Given the description of an element on the screen output the (x, y) to click on. 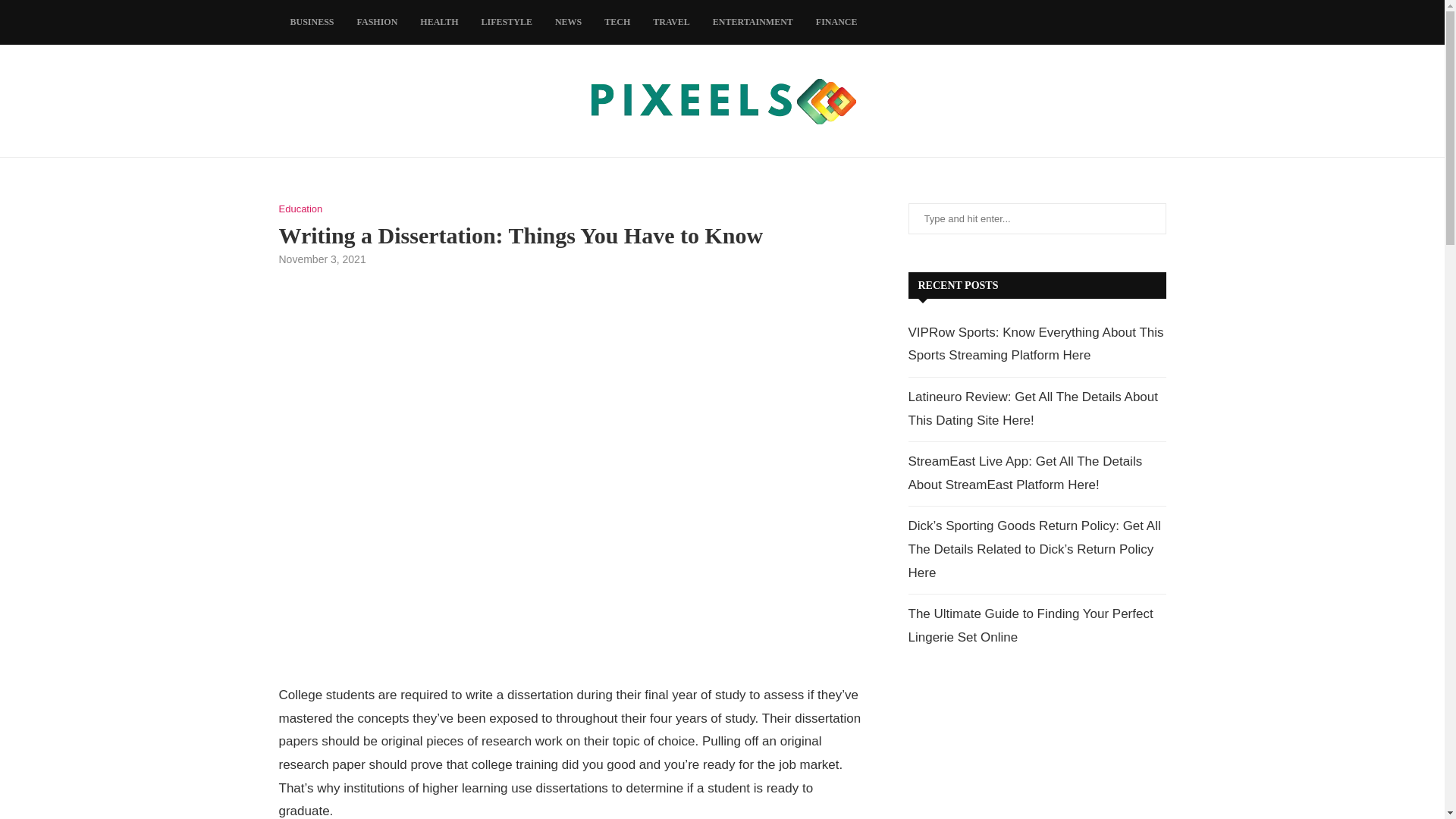
BUSINESS (312, 22)
Education (301, 209)
FINANCE (837, 22)
Search (128, 15)
TECH (617, 22)
FASHION (377, 22)
LIFESTYLE (506, 22)
HEALTH (438, 22)
